Given the description of an element on the screen output the (x, y) to click on. 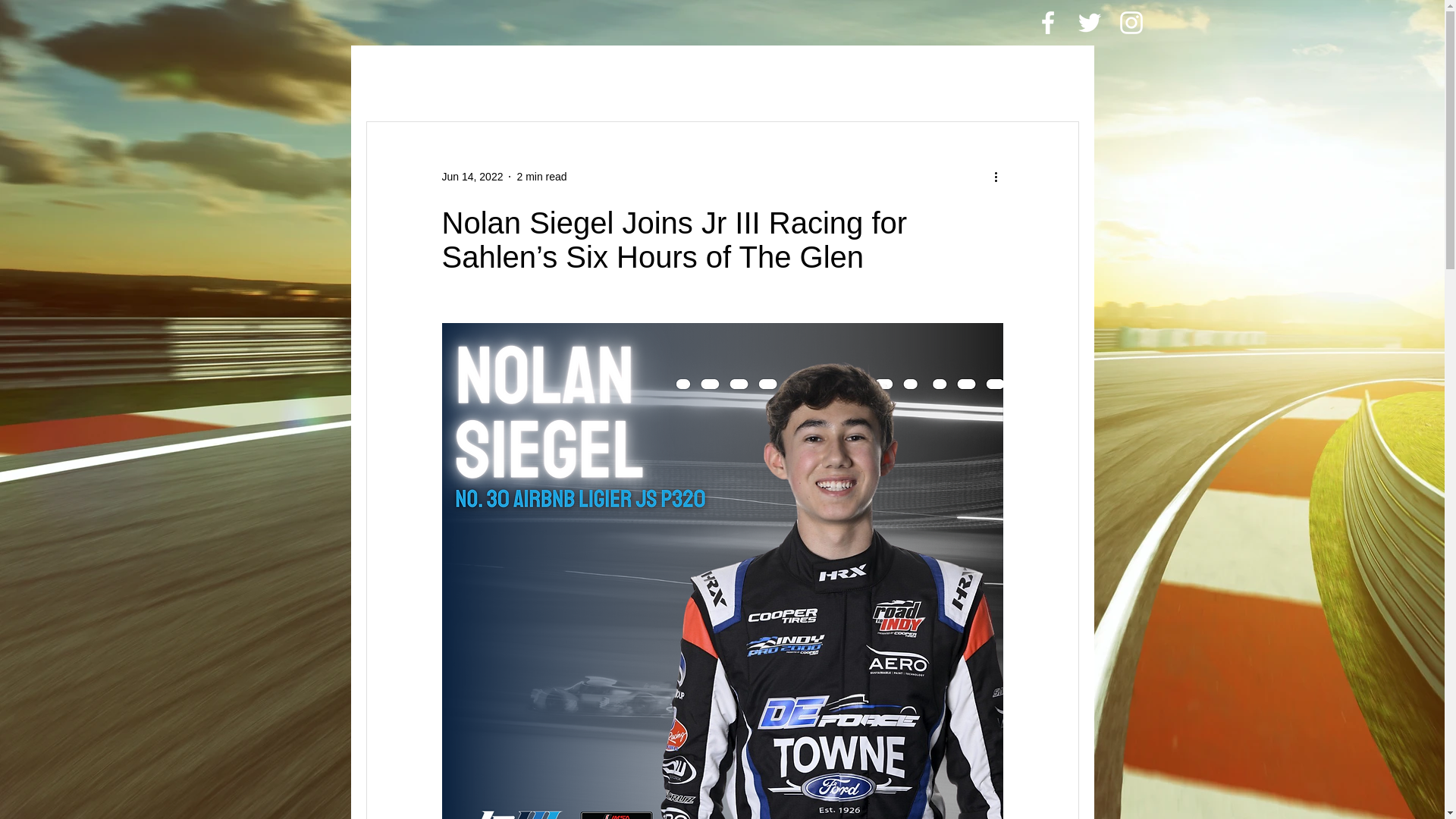
2 min read (541, 175)
Jun 14, 2022 (471, 175)
All Posts (394, 75)
